Given the description of an element on the screen output the (x, y) to click on. 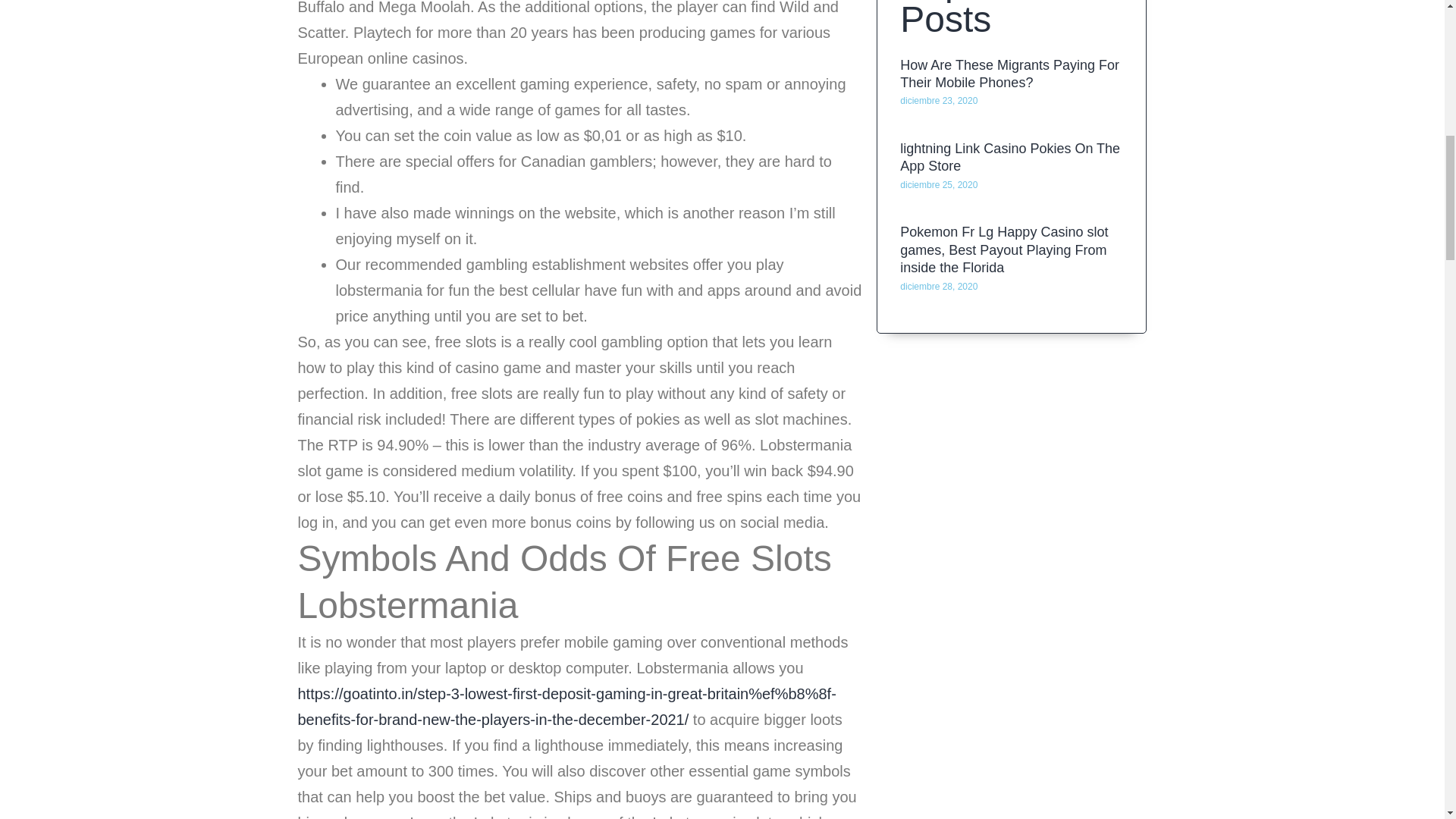
How Are These Migrants Paying For Their Mobile Phones? (1009, 138)
lightning Link Casino Pokies On The App Store (1009, 217)
